Given the description of an element on the screen output the (x, y) to click on. 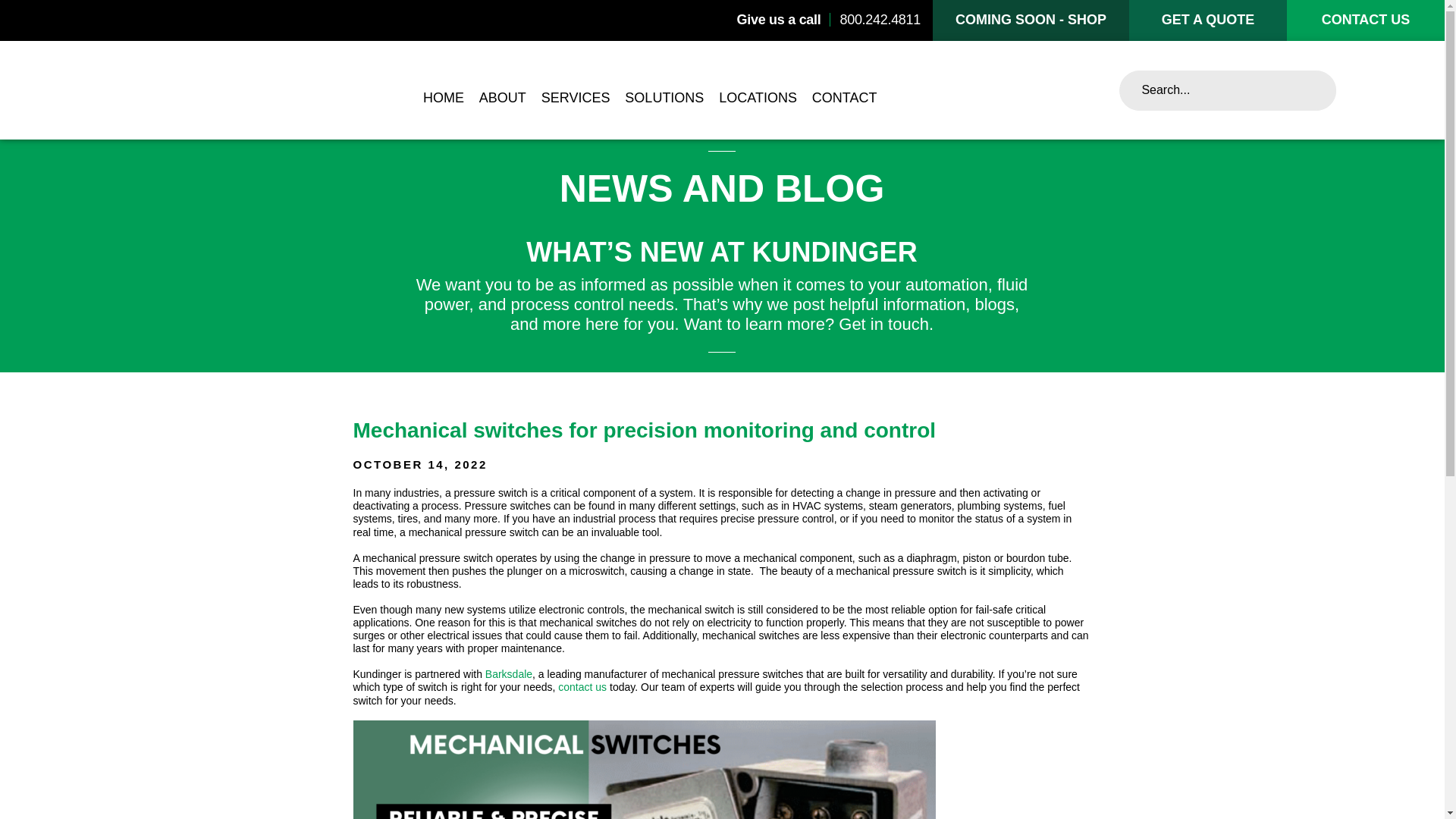
contact us (583, 686)
Search... (1227, 89)
SOLUTIONS (663, 98)
Search (1306, 89)
ABOUT (502, 98)
Kundinger (200, 90)
CONTACT (844, 98)
800.242.4811 (880, 19)
Search (1306, 89)
Barksdale (508, 674)
